Given the description of an element on the screen output the (x, y) to click on. 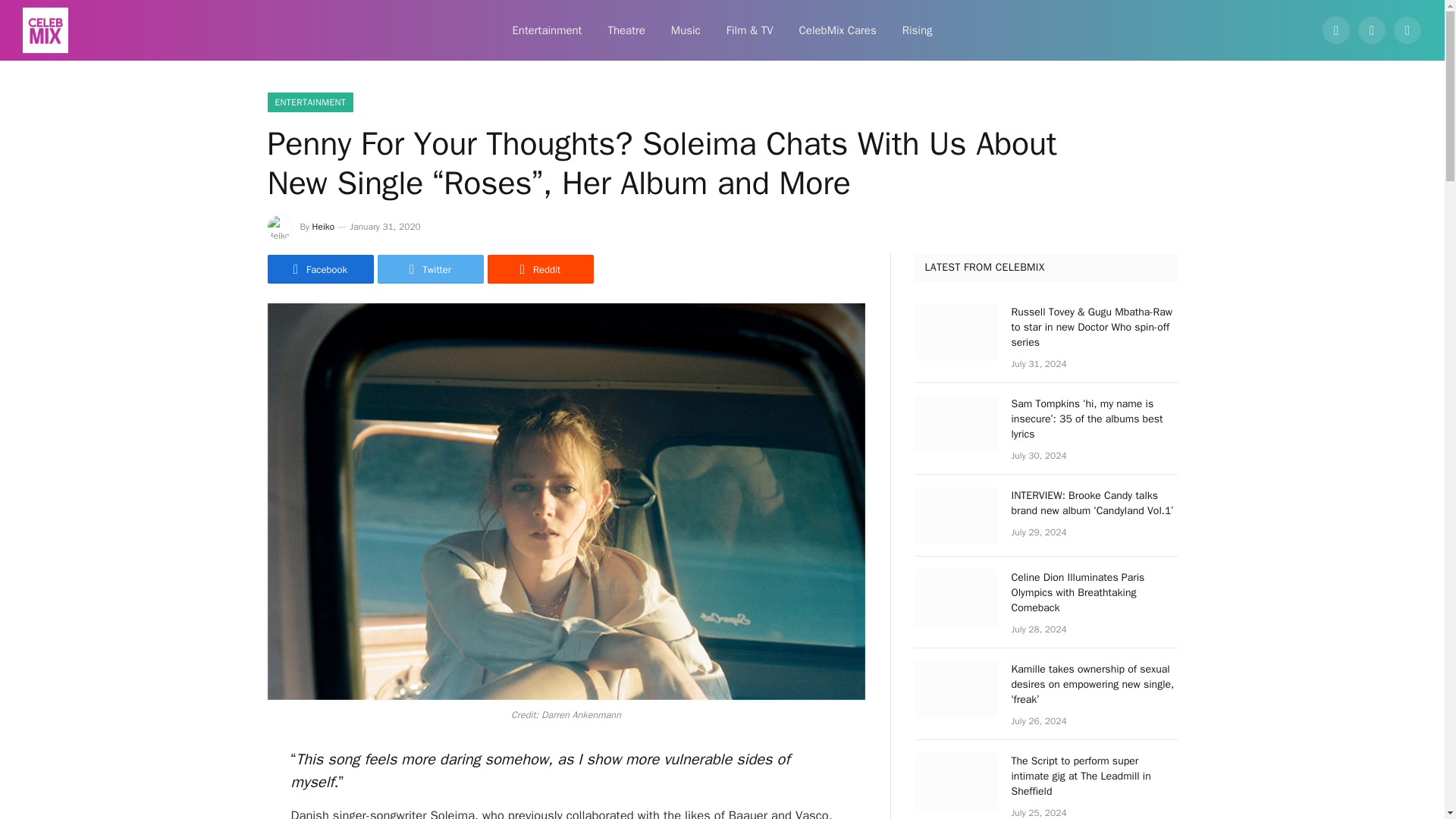
Facebook (1336, 30)
Heiko (323, 226)
Instagram (1407, 30)
Posts by Heiko (323, 226)
ENTERTAINMENT (309, 102)
Share on Reddit (539, 268)
Entertainment (546, 30)
Twitter (430, 268)
Share on Facebook (319, 268)
Music (685, 30)
Facebook (319, 268)
Theatre (626, 30)
Reddit (539, 268)
CelebMix Cares (837, 30)
Rising (916, 30)
